Given the description of an element on the screen output the (x, y) to click on. 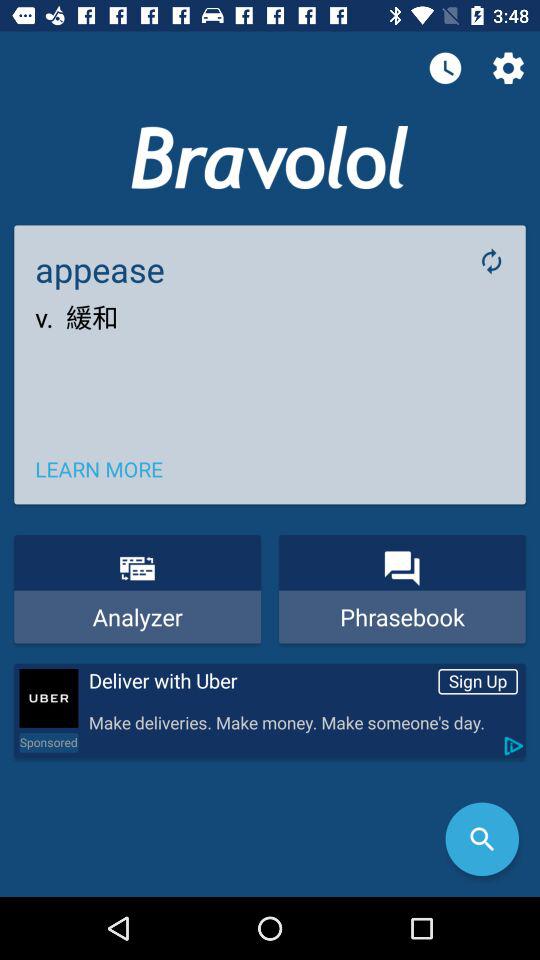
select advertisement (48, 698)
